Given the description of an element on the screen output the (x, y) to click on. 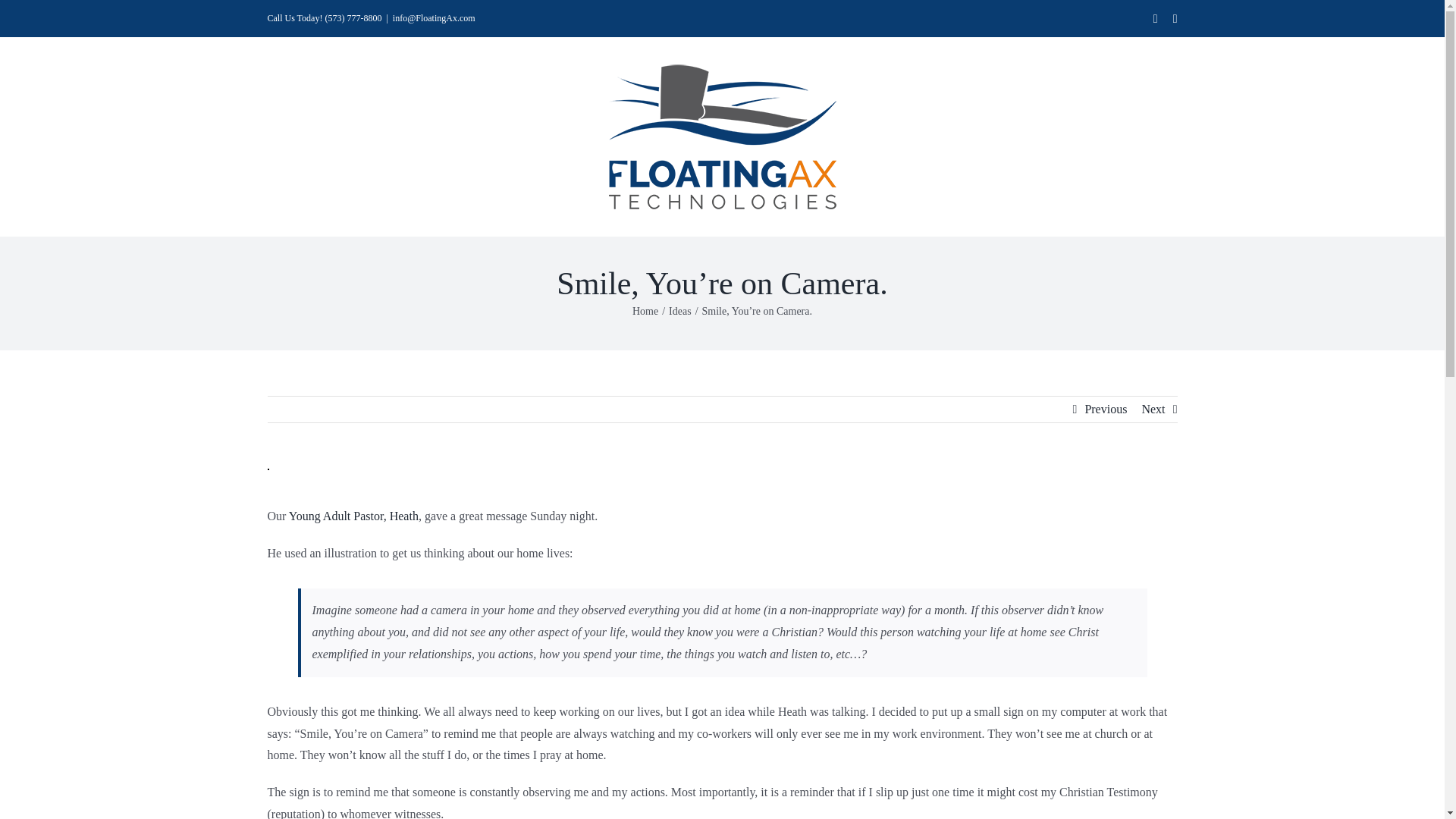
Ideas (679, 310)
Previous (1105, 409)
Home (644, 310)
Next (1152, 409)
Young Adult Pastor, Heath (351, 515)
